Given the description of an element on the screen output the (x, y) to click on. 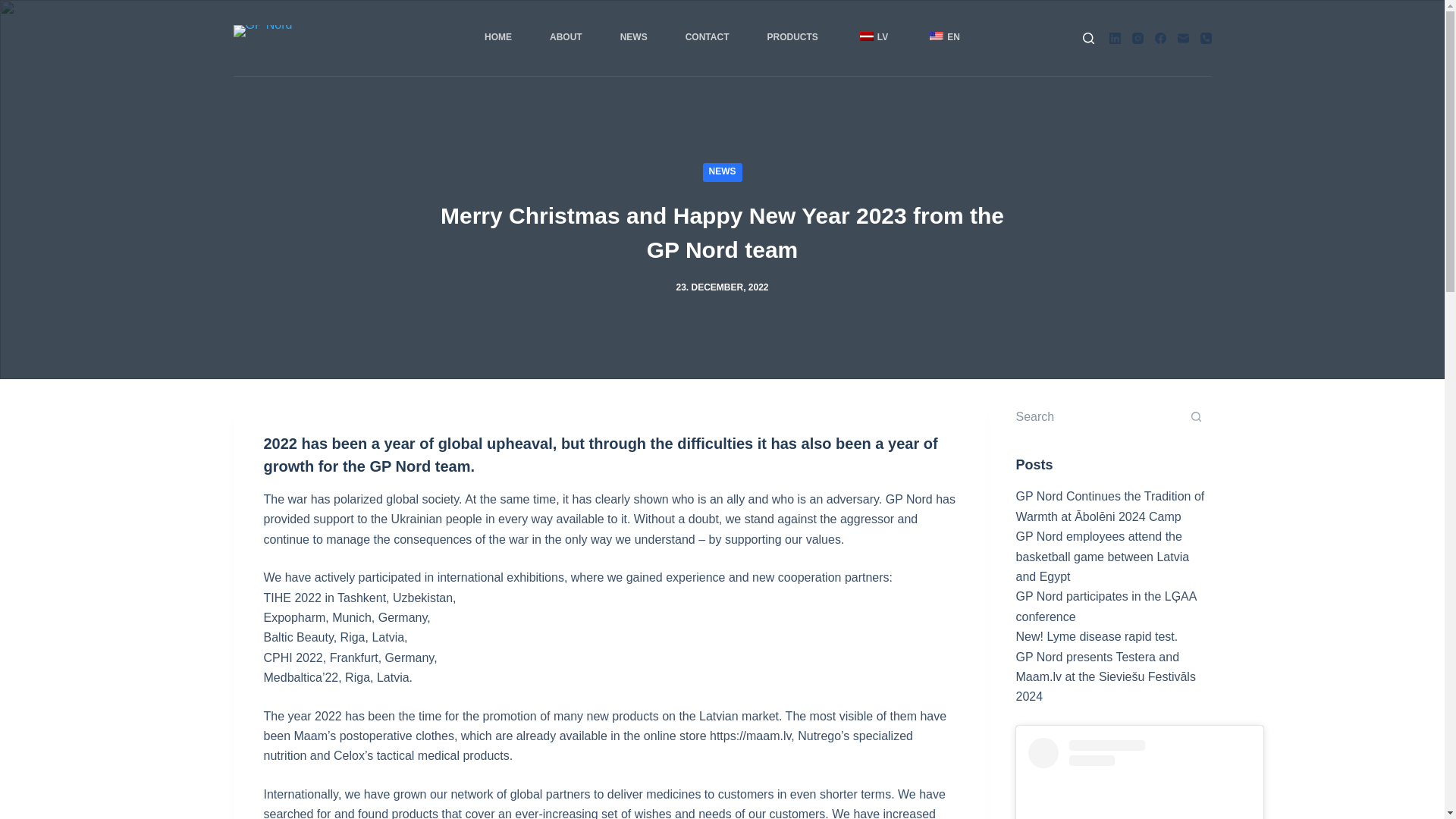
ABOUT (566, 38)
Search for... (1098, 417)
Skip to content (15, 7)
NEWS (721, 171)
CONTACT (707, 38)
English (936, 35)
LV (872, 38)
PRODUCTS (791, 38)
EN (942, 38)
